Given the description of an element on the screen output the (x, y) to click on. 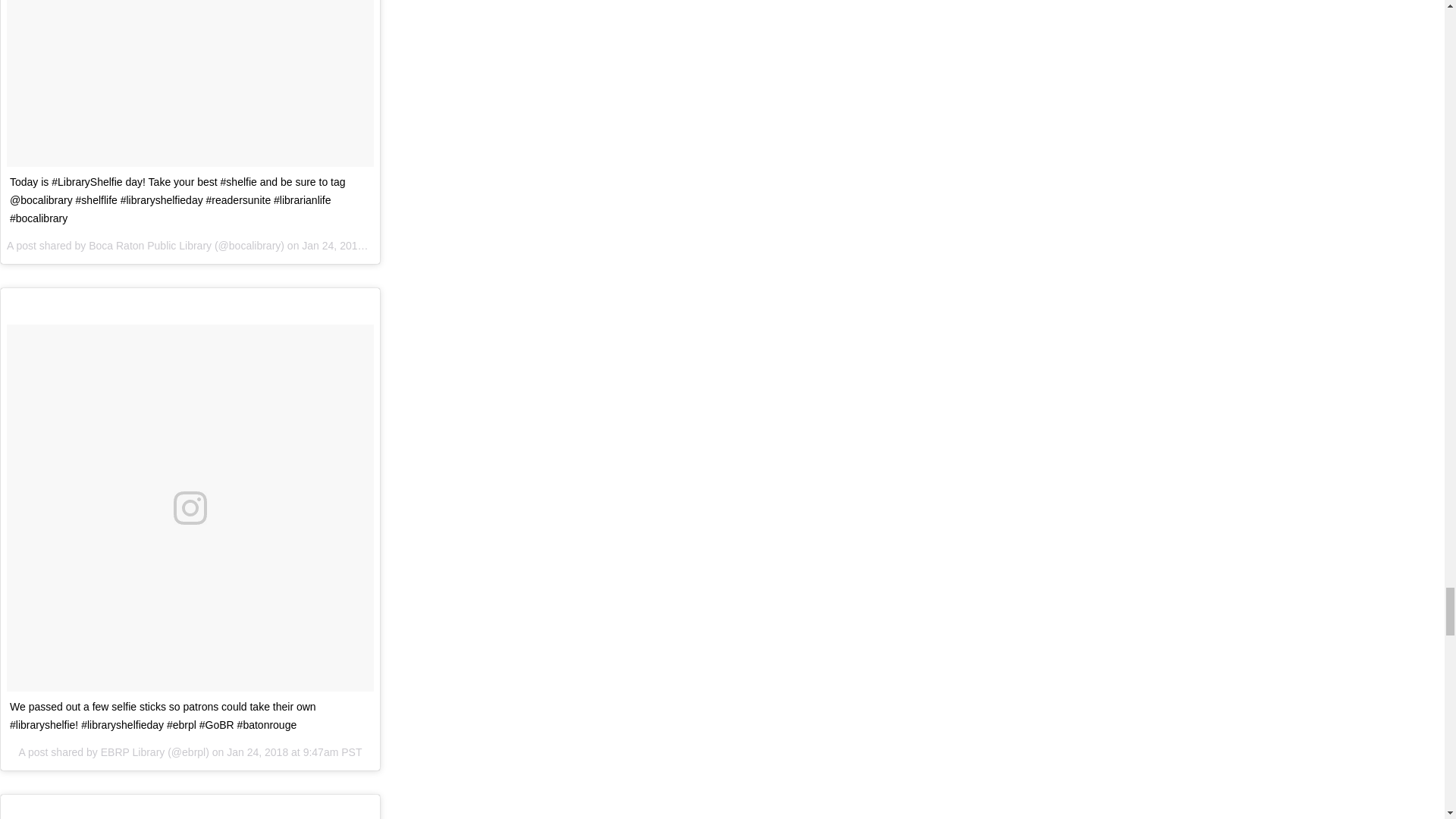
EBRP Library (132, 752)
Boca Raton Public Library (149, 245)
